Given the description of an element on the screen output the (x, y) to click on. 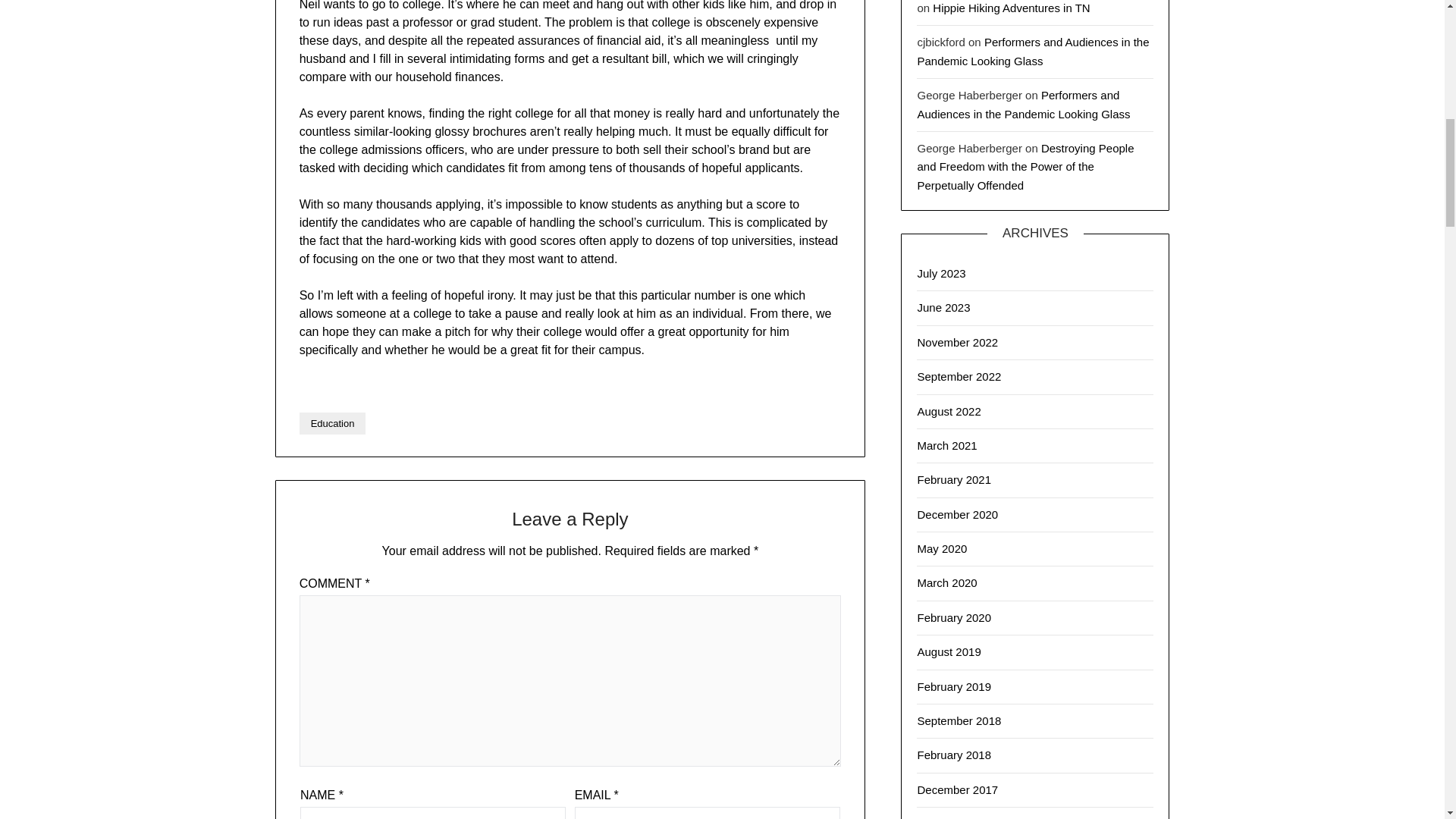
June 2023 (943, 307)
July 2023 (941, 273)
November 2022 (957, 341)
Hippie Hiking Adventures in TN (1011, 7)
Performers and Audiences in the Pandemic Looking Glass (1023, 103)
August 2022 (948, 410)
Performers and Audiences in the Pandemic Looking Glass (1032, 51)
September 2022 (959, 376)
Education (332, 423)
March 2021 (946, 445)
